Given the description of an element on the screen output the (x, y) to click on. 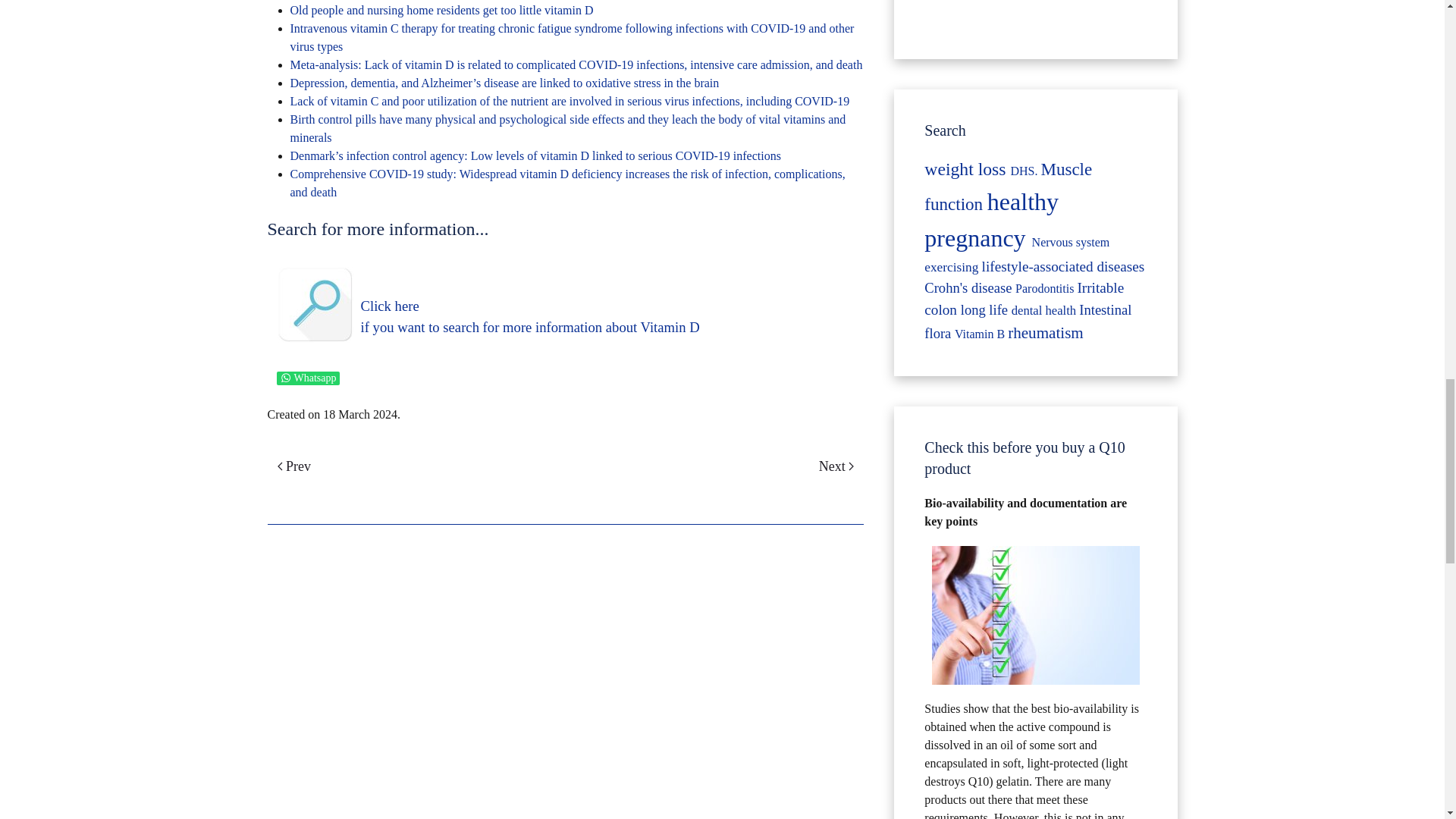
Check this before you buy a Q10 product (1035, 615)
Search for more information... (315, 304)
